Given the description of an element on the screen output the (x, y) to click on. 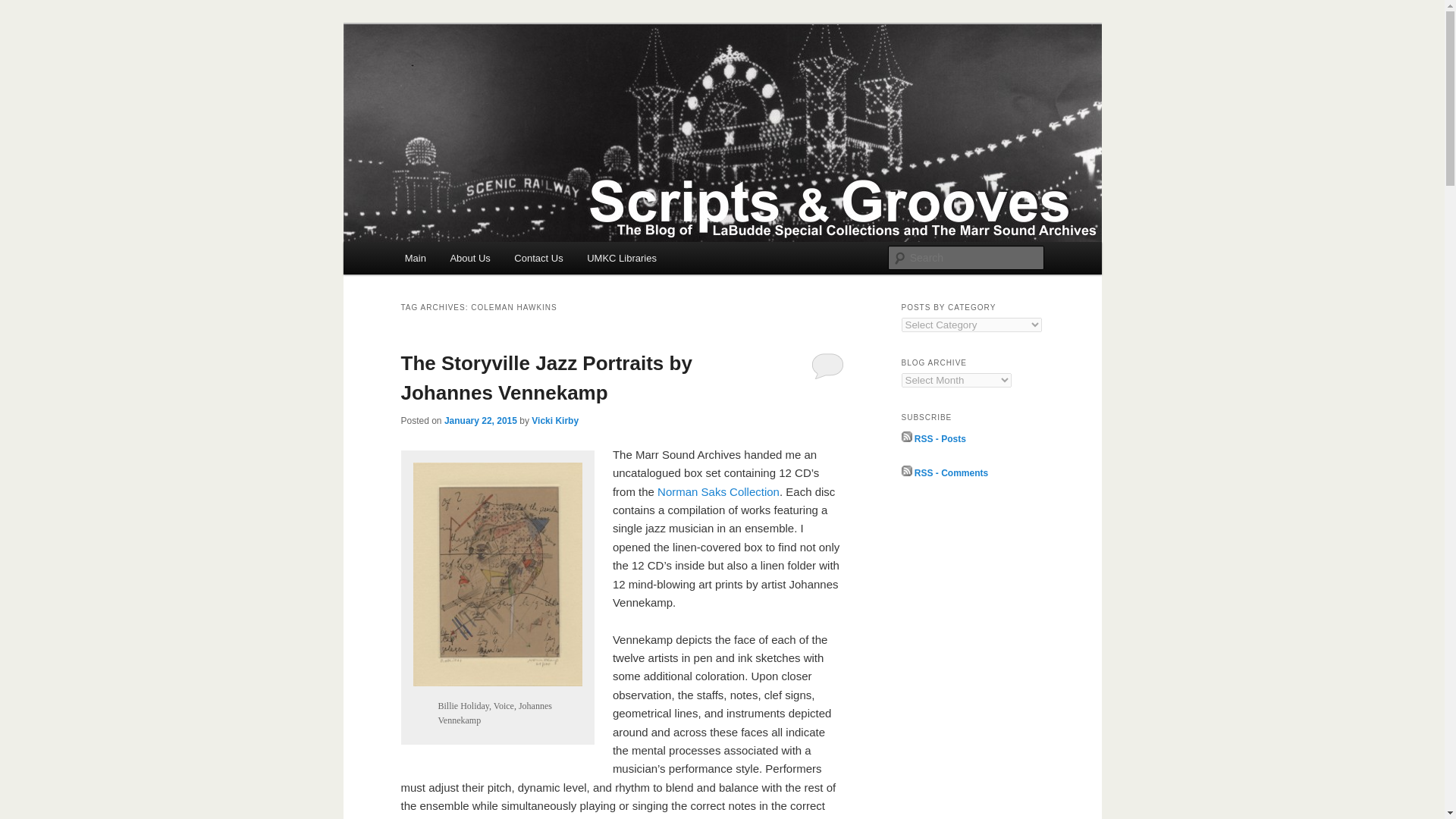
January 22, 2015 (480, 420)
Norman Saks Collection (718, 491)
The Storyville Jazz Portraits by Johannes Vennekamp (545, 378)
View all posts by Vicki Kirby (554, 420)
About Us (470, 257)
Search (24, 8)
8:00 am (480, 420)
UMKC Libraries (621, 257)
Subscribe to posts (933, 439)
Scripts and Grooves (511, 78)
Contact Us (538, 257)
Main (415, 257)
UMKC Libraries (621, 257)
Vicki Kirby (554, 420)
